Given the description of an element on the screen output the (x, y) to click on. 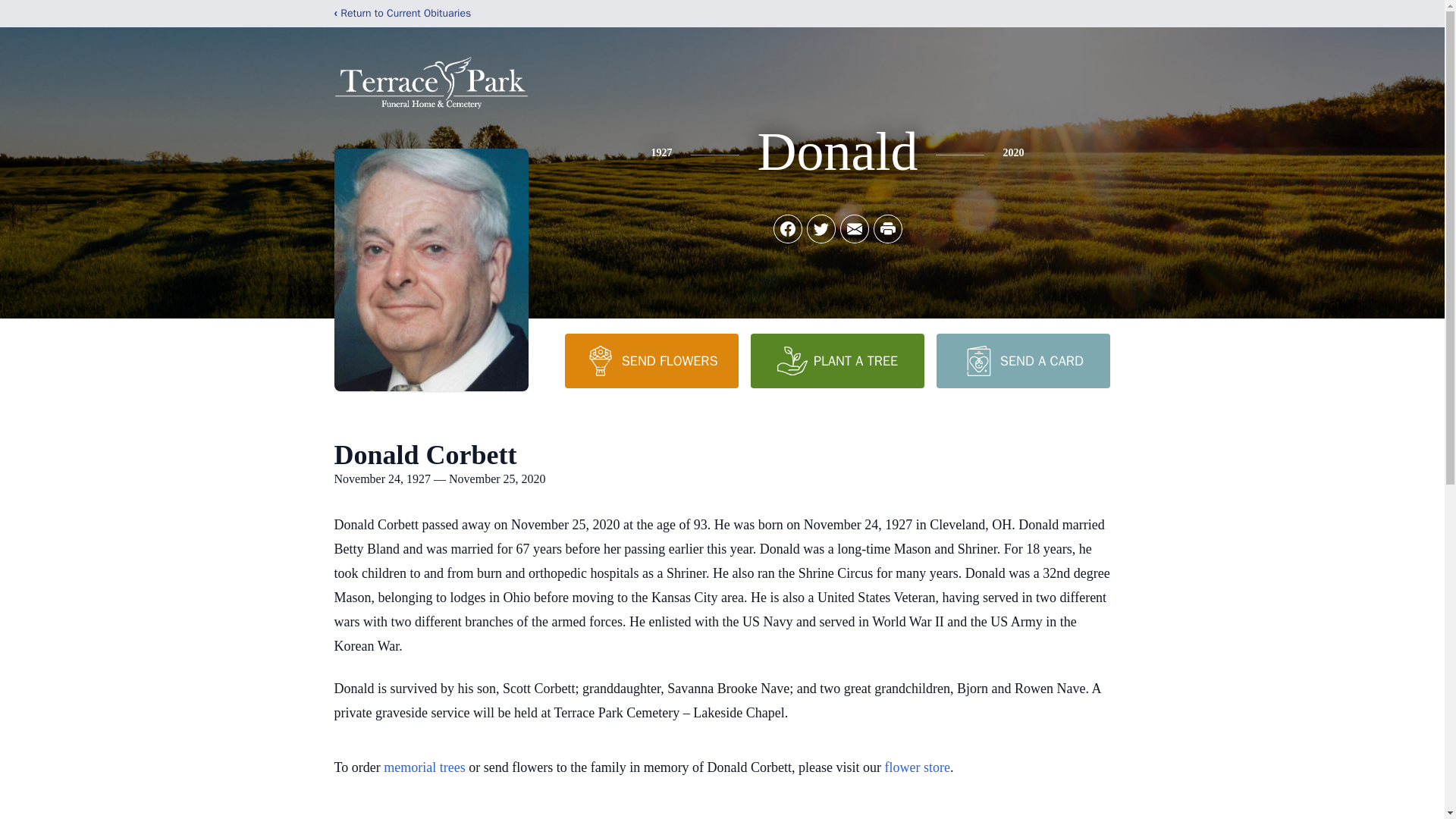
memorial trees (424, 767)
SEND FLOWERS (651, 360)
SEND A CARD (1022, 360)
flower store (917, 767)
PLANT A TREE (837, 360)
